Given the description of an element on the screen output the (x, y) to click on. 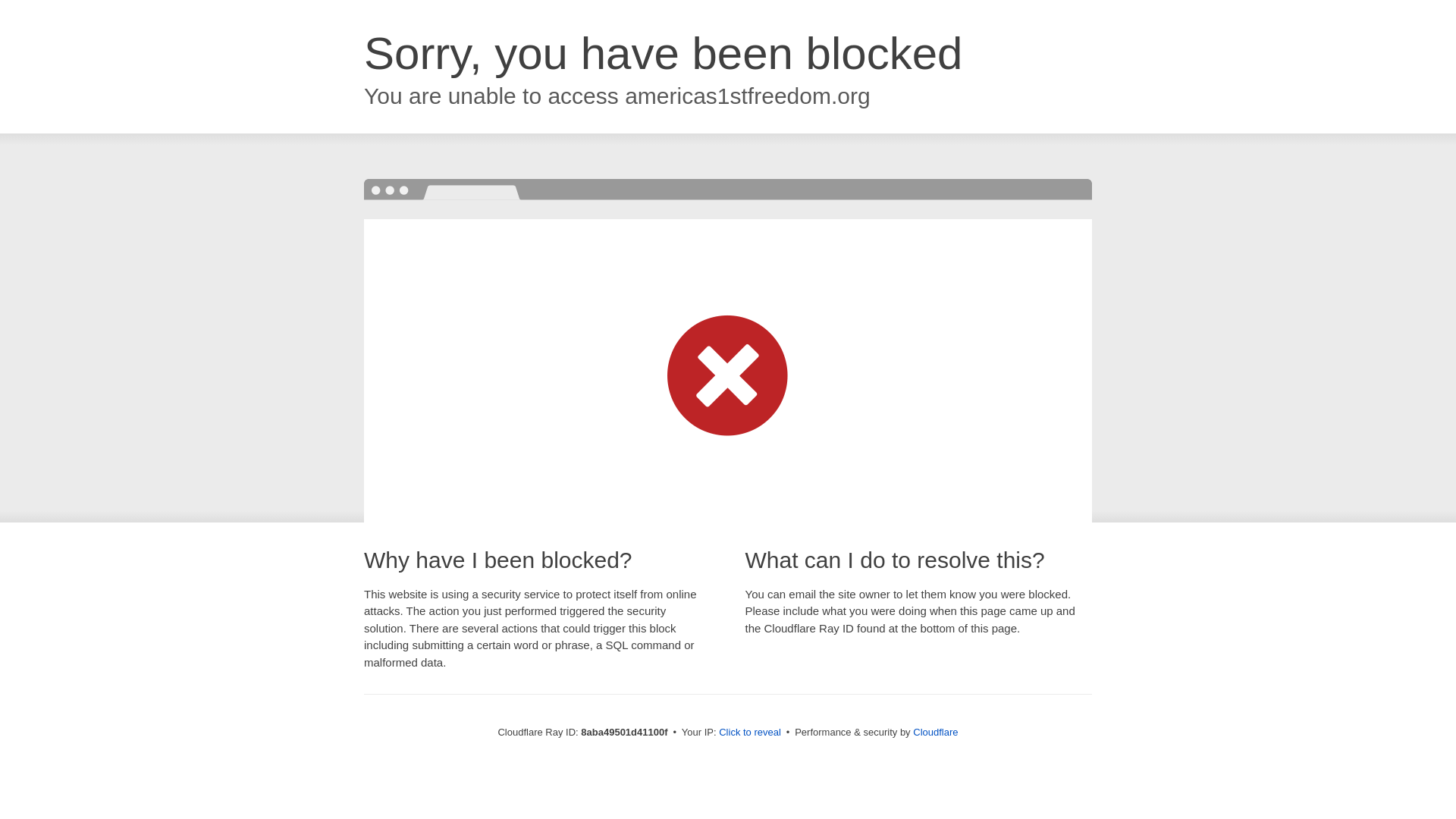
Click to reveal (749, 732)
Cloudflare (935, 731)
